Given the description of an element on the screen output the (x, y) to click on. 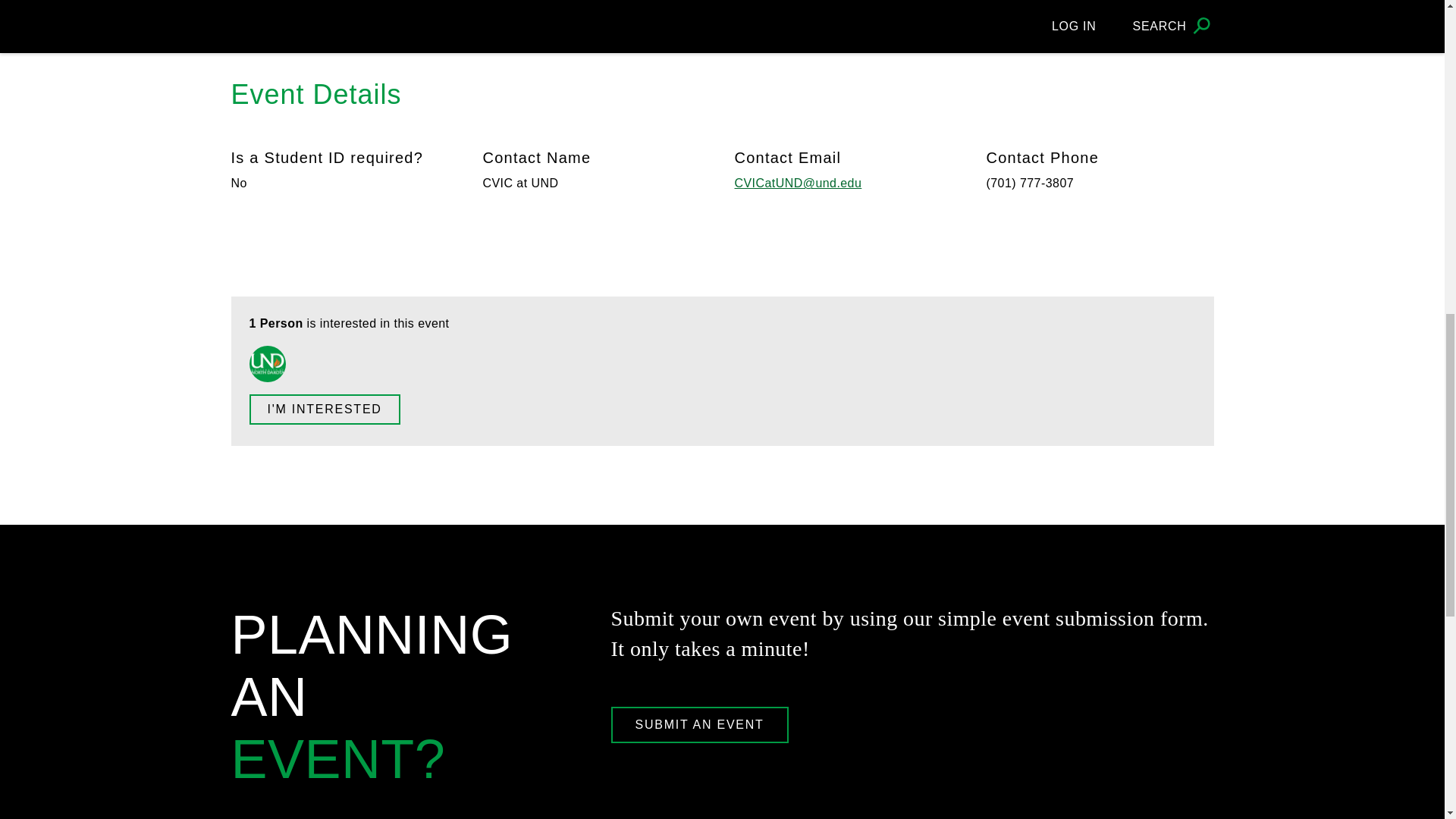
I'M INTERESTED (323, 409)
Birdie Alia (266, 363)
SUBMIT AN EVENT (700, 724)
